Given the description of an element on the screen output the (x, y) to click on. 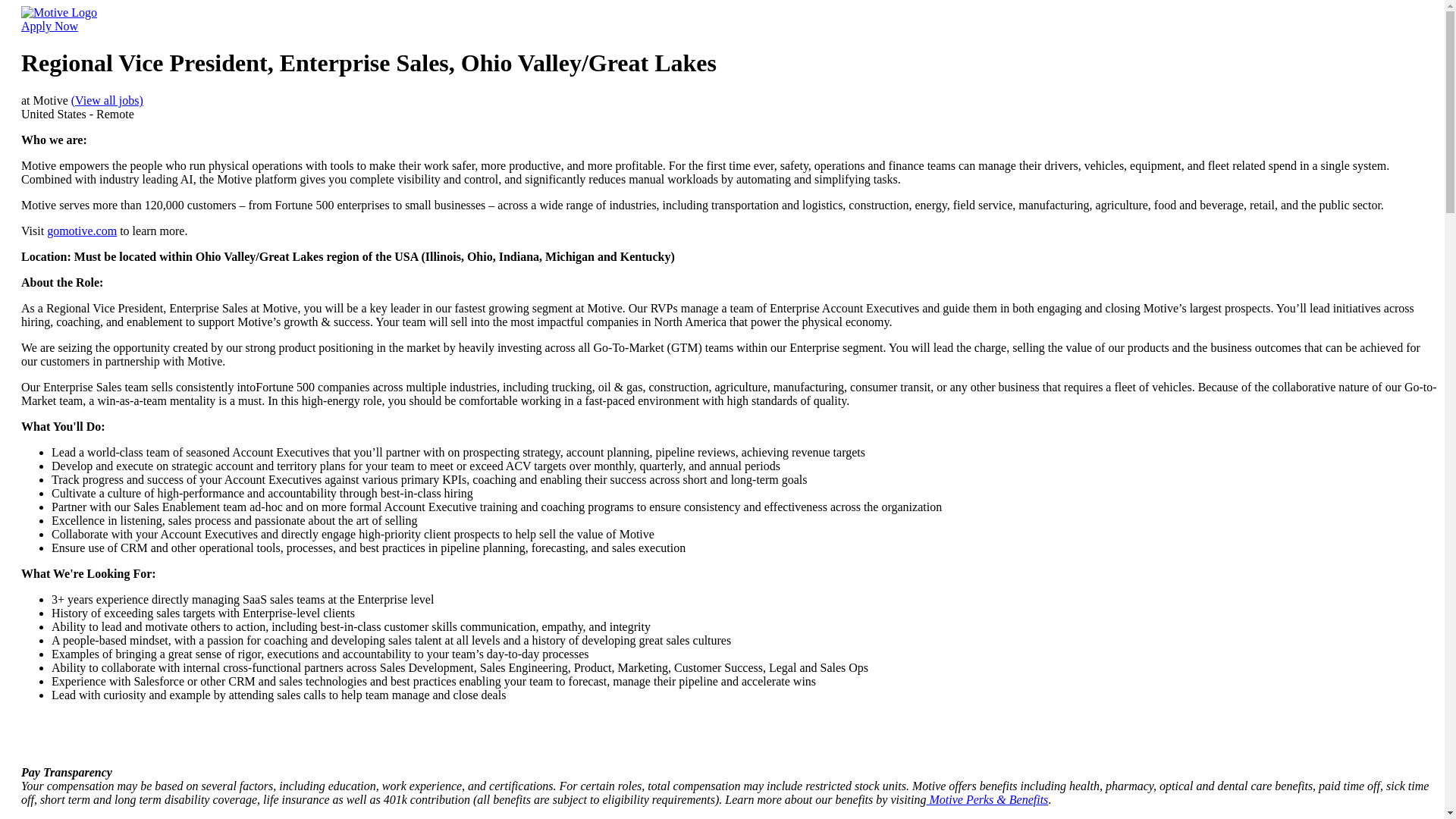
Apply Now (49, 25)
gomotive.com (81, 230)
